Given the description of an element on the screen output the (x, y) to click on. 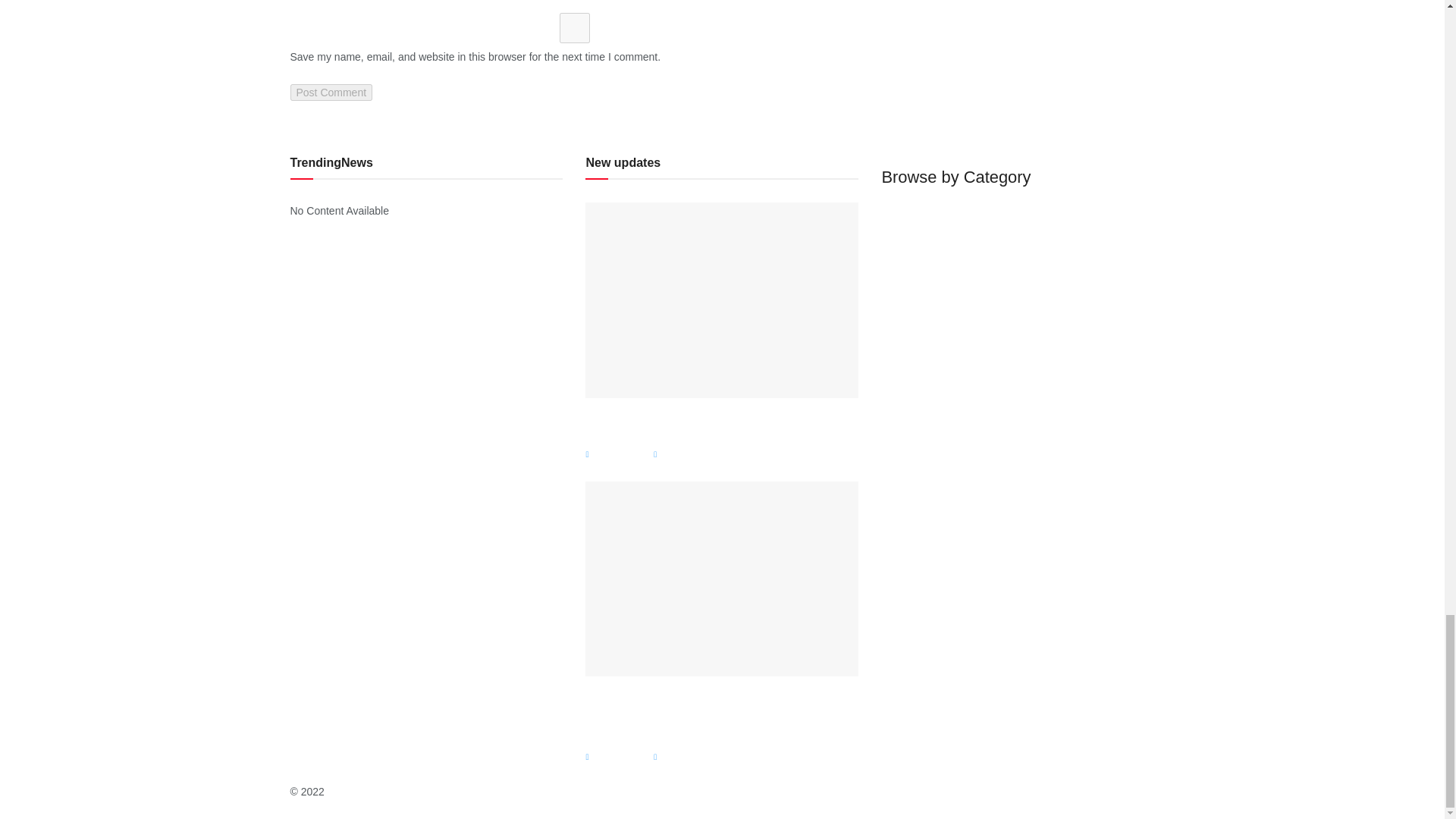
Post Comment (330, 92)
yes (574, 28)
www.conservativeguard.com (395, 791)
